Given the description of an element on the screen output the (x, y) to click on. 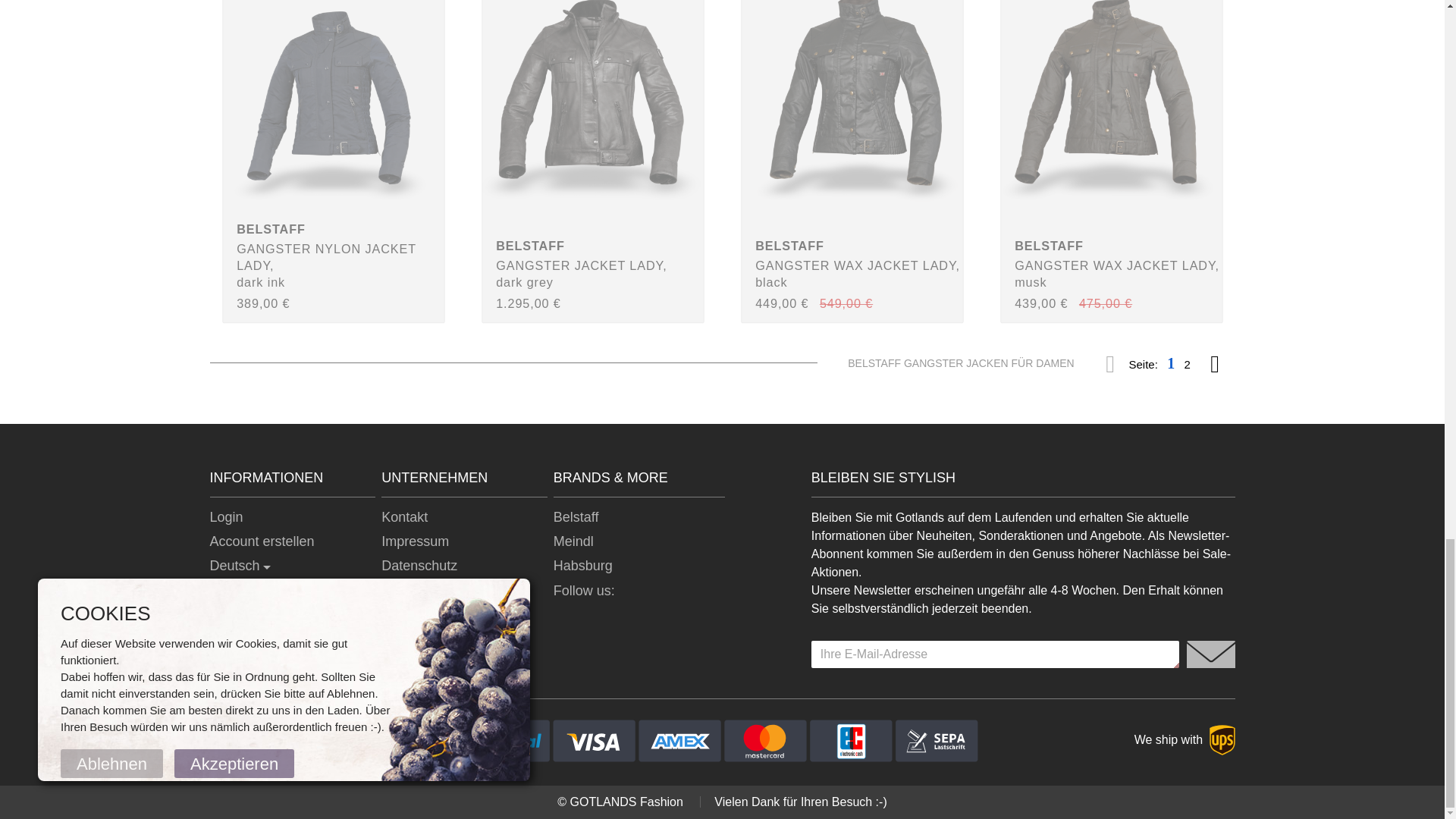
Weiter (1214, 363)
Login (226, 516)
Account erstellen (261, 541)
EUR (228, 589)
Deutsch (239, 565)
